Given the description of an element on the screen output the (x, y) to click on. 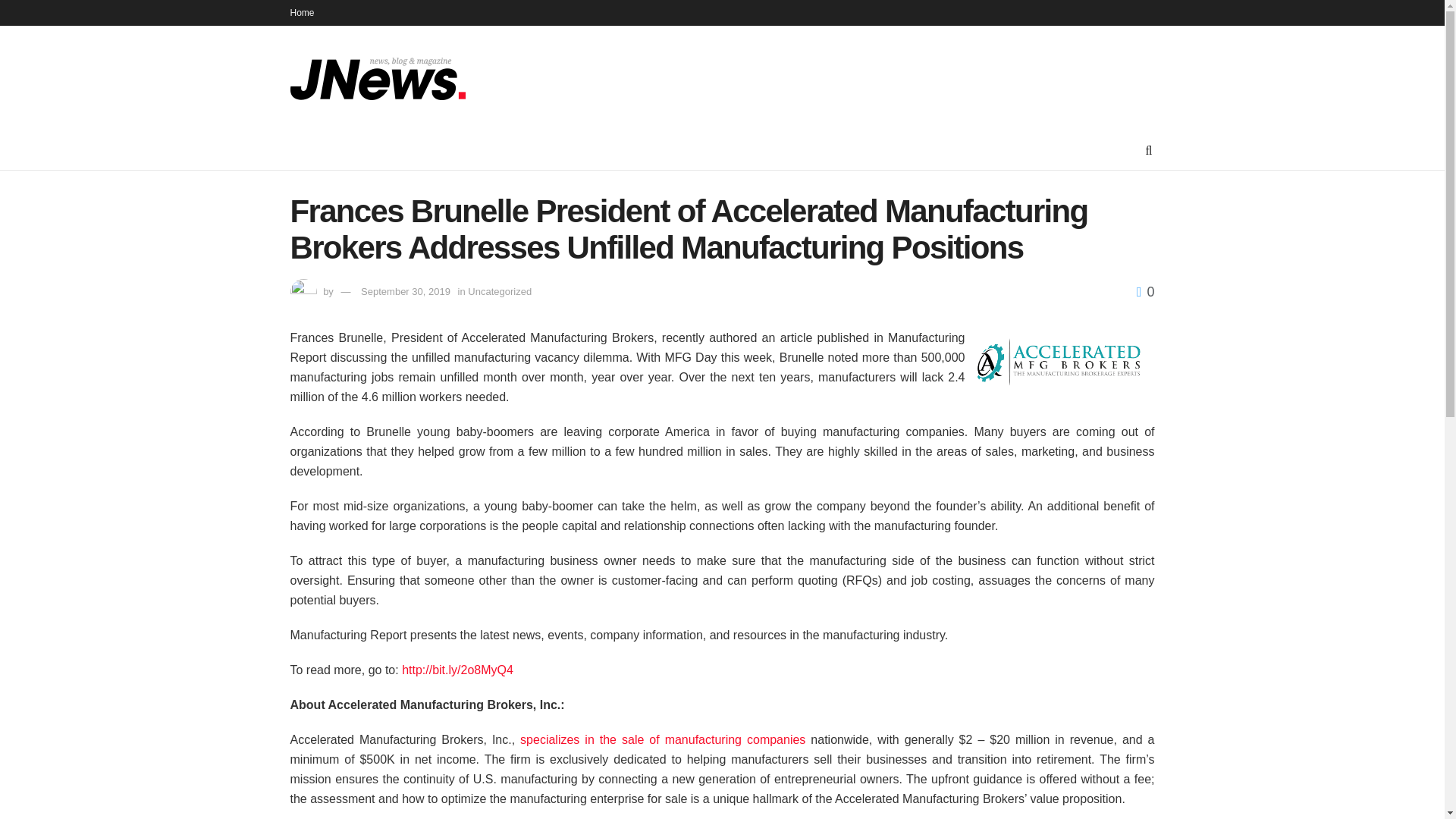
0 (1145, 291)
specializes in the sale of manufacturing companies (662, 739)
September 30, 2019 (405, 291)
Home (301, 12)
